Given the description of an element on the screen output the (x, y) to click on. 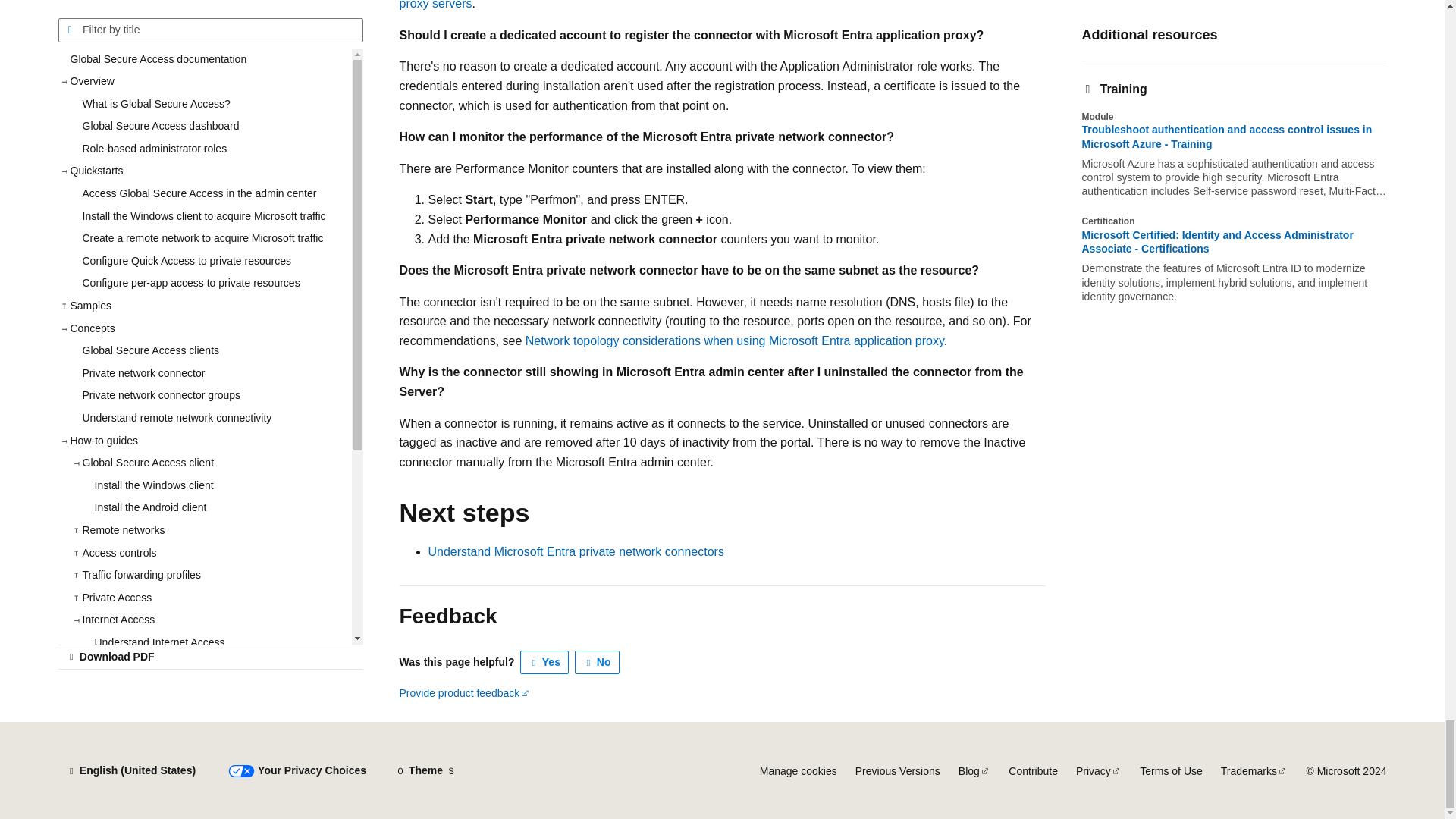
This article is not helpful (597, 662)
Theme (425, 770)
This article is helpful (544, 662)
